Given the description of an element on the screen output the (x, y) to click on. 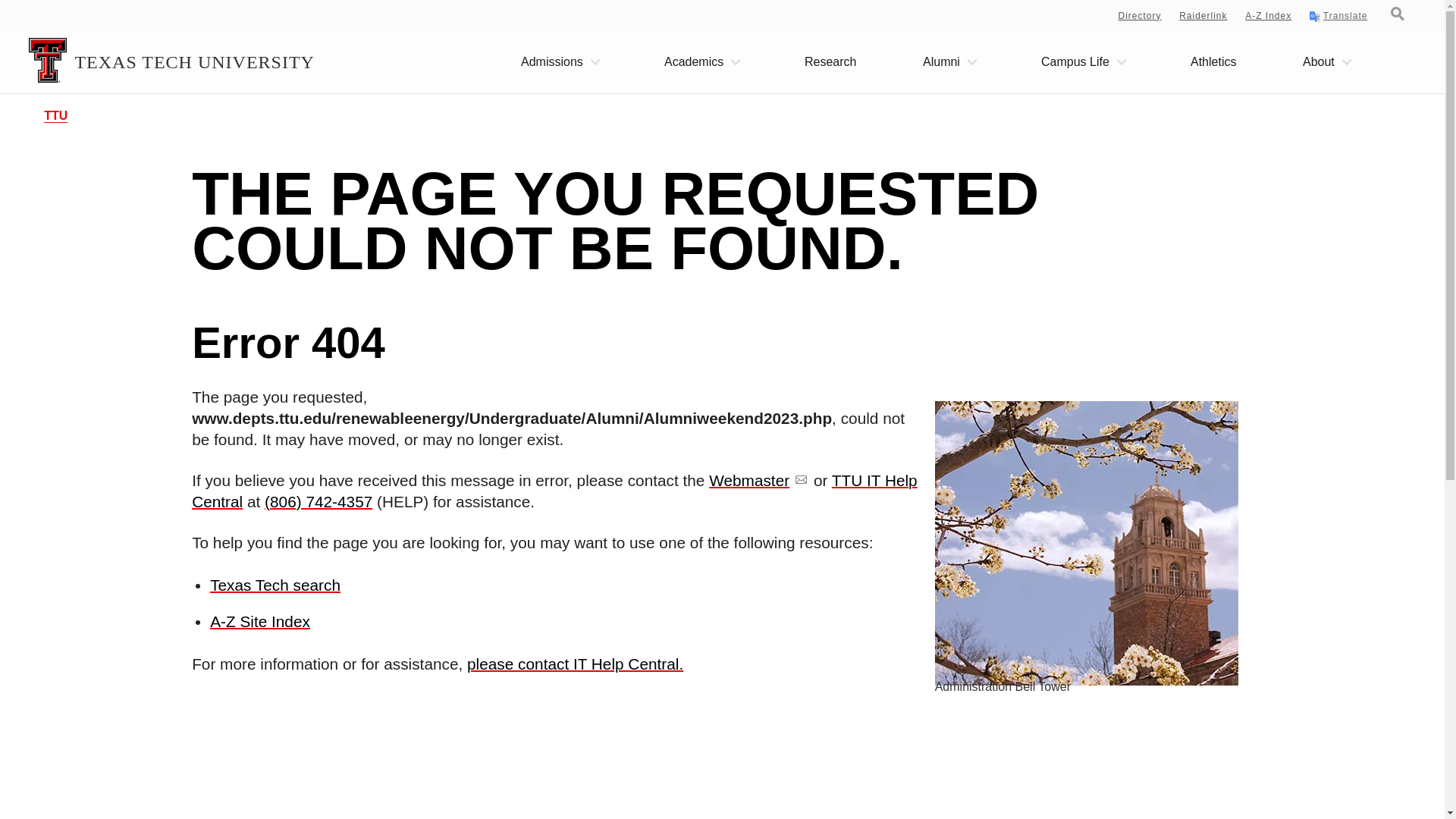
Academics (700, 61)
Directory (1139, 15)
A-Z Index (1267, 15)
Admissions (559, 61)
Translate (1338, 16)
Raiderlink (1203, 15)
